Given the description of an element on the screen output the (x, y) to click on. 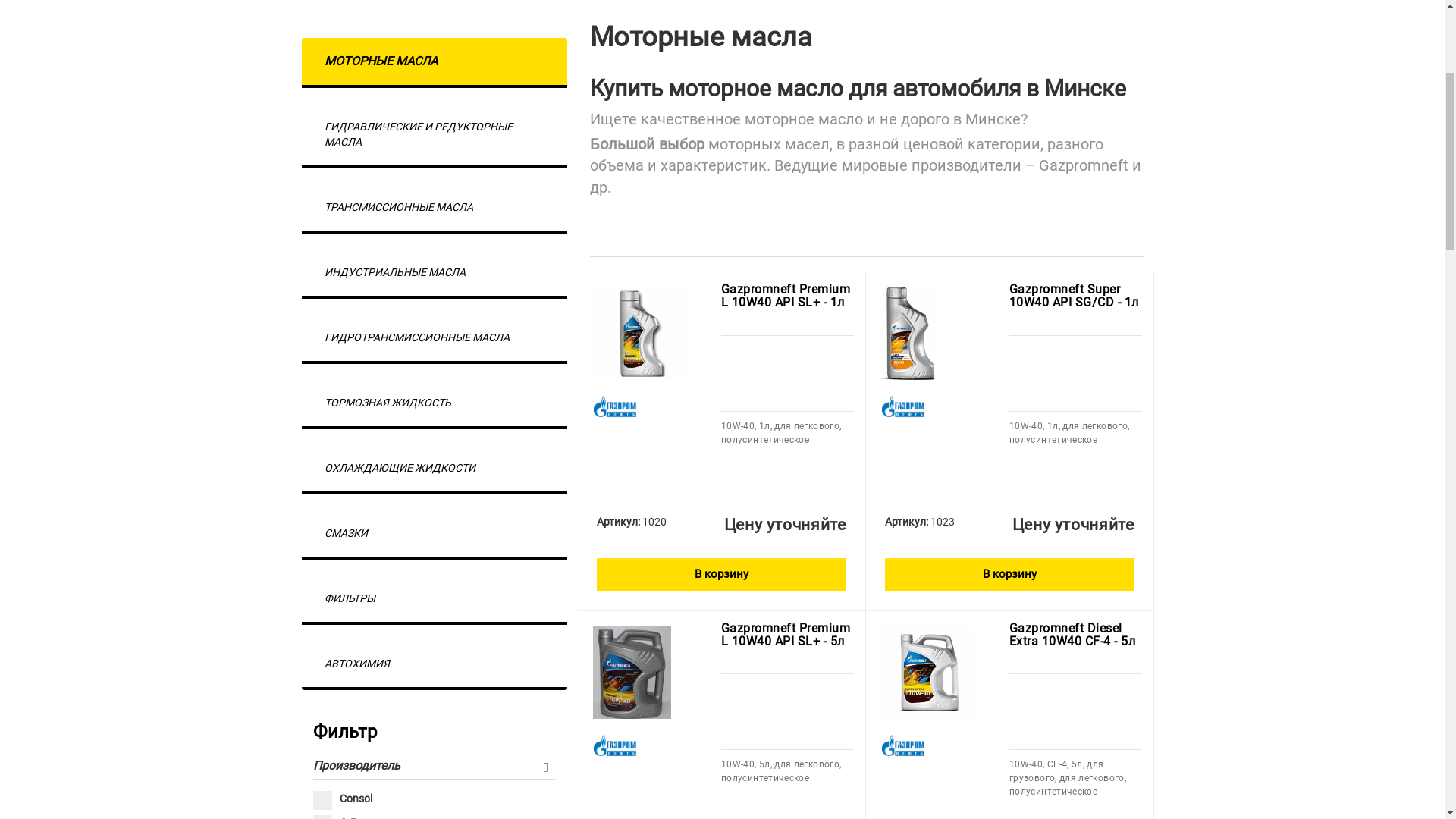
+375(29)255-17-61 Element type: text (913, 20)
Gazpromneft Element type: hover (902, 689)
+375(29)675-67-64 Element type: text (358, 20)
+375(29)136-06-38 Element type: text (636, 20)
+375(29)175-17-61 Element type: text (498, 20)
Gazpromneft Element type: hover (614, 689)
+375(33)302-06-39 Element type: text (775, 20)
